Given the description of an element on the screen output the (x, y) to click on. 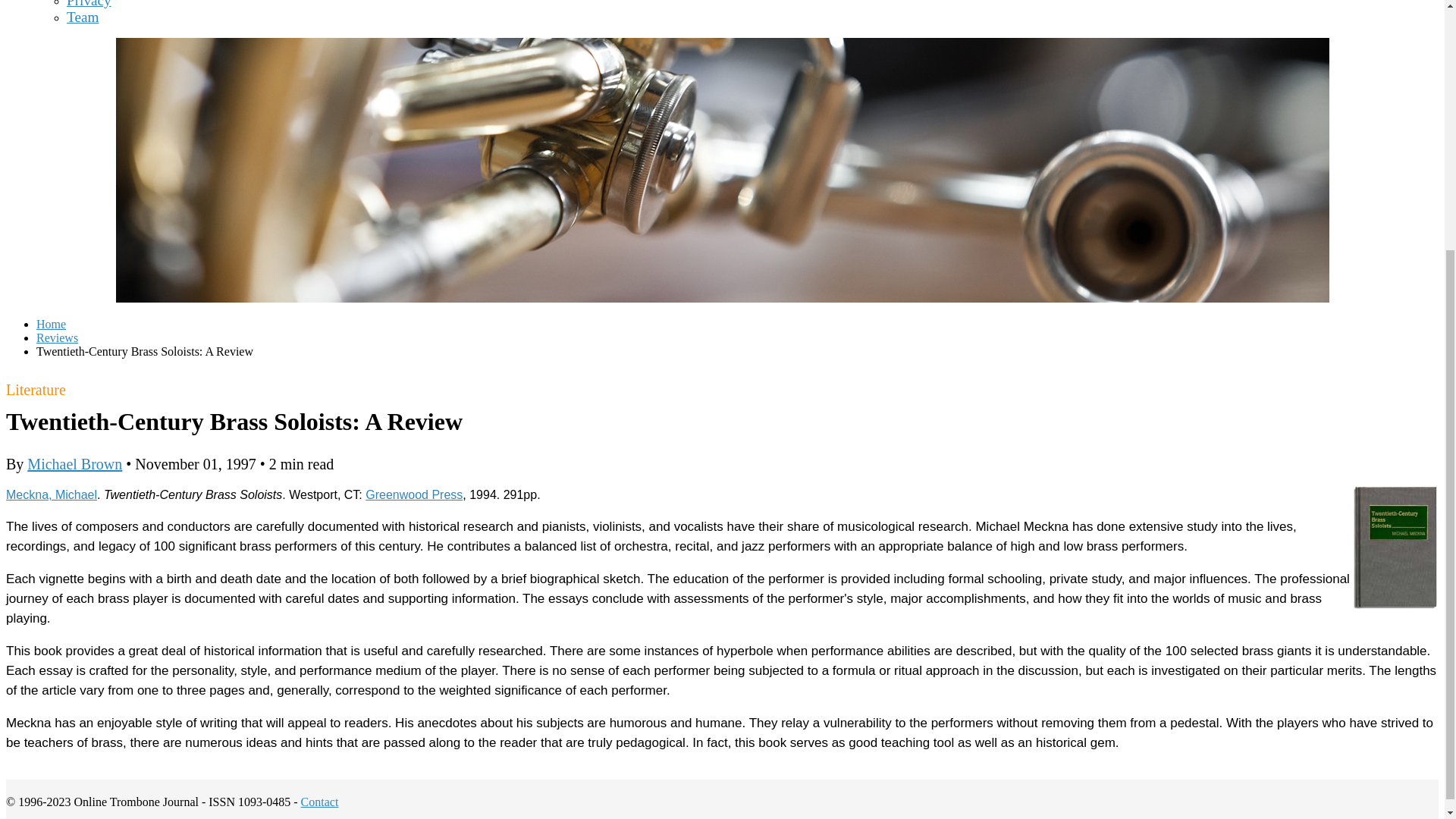
Team (82, 17)
Home (50, 323)
Privacy (89, 4)
Michael Brown (74, 463)
Meckna, Michael (51, 494)
Reviews (57, 337)
Greenwood Press (414, 494)
Contact (320, 801)
